Given the description of an element on the screen output the (x, y) to click on. 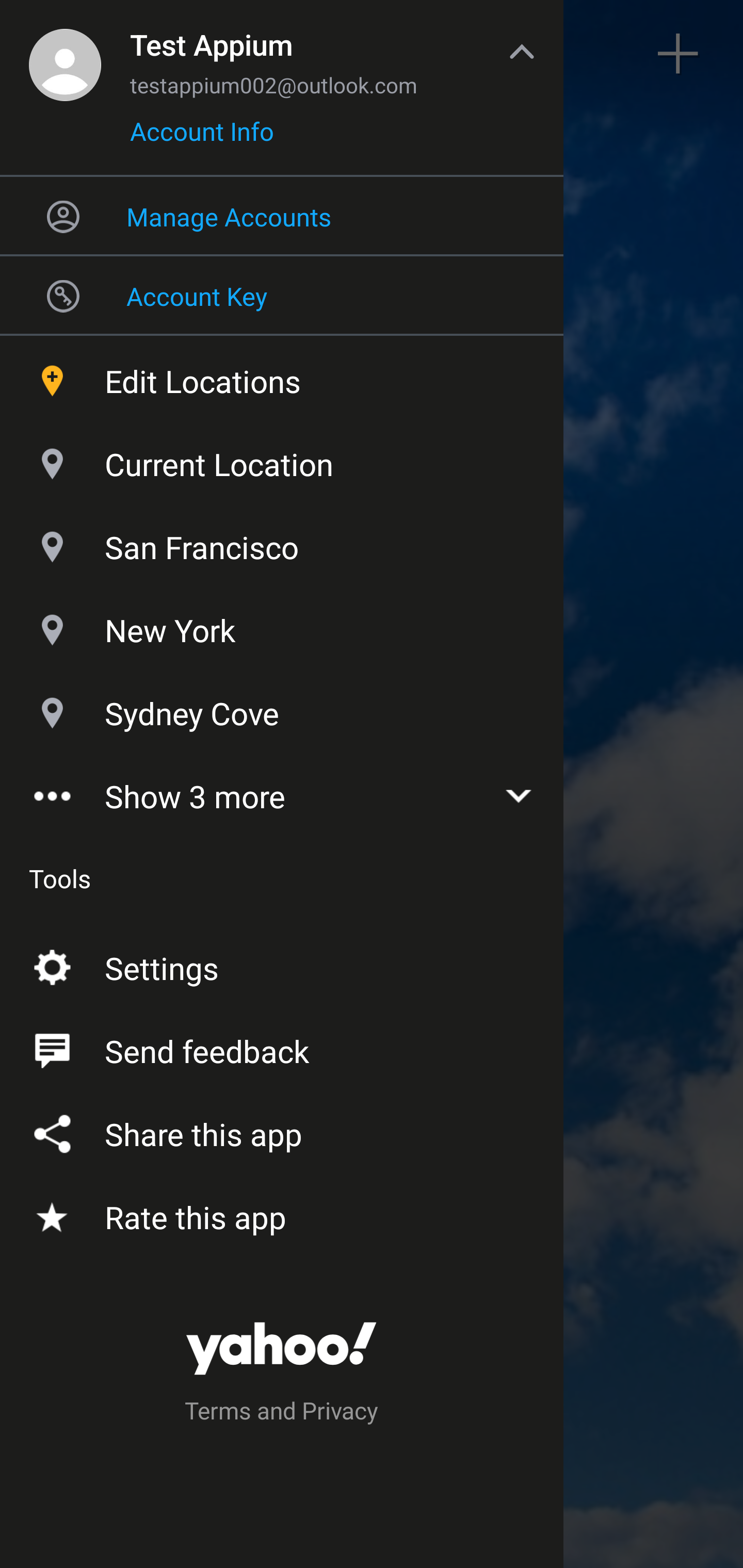
Sidebar (64, 54)
Account Info (202, 137)
Manage Accounts (281, 216)
Account Key (281, 295)
Edit Locations (281, 376)
Current Location (281, 459)
San Francisco (281, 542)
New York (281, 625)
Sydney Cove (281, 709)
Settings (281, 963)
Send feedback (281, 1046)
Share this app (281, 1129)
Terms and Privacy Terms and privacy button (281, 1413)
